Given the description of an element on the screen output the (x, y) to click on. 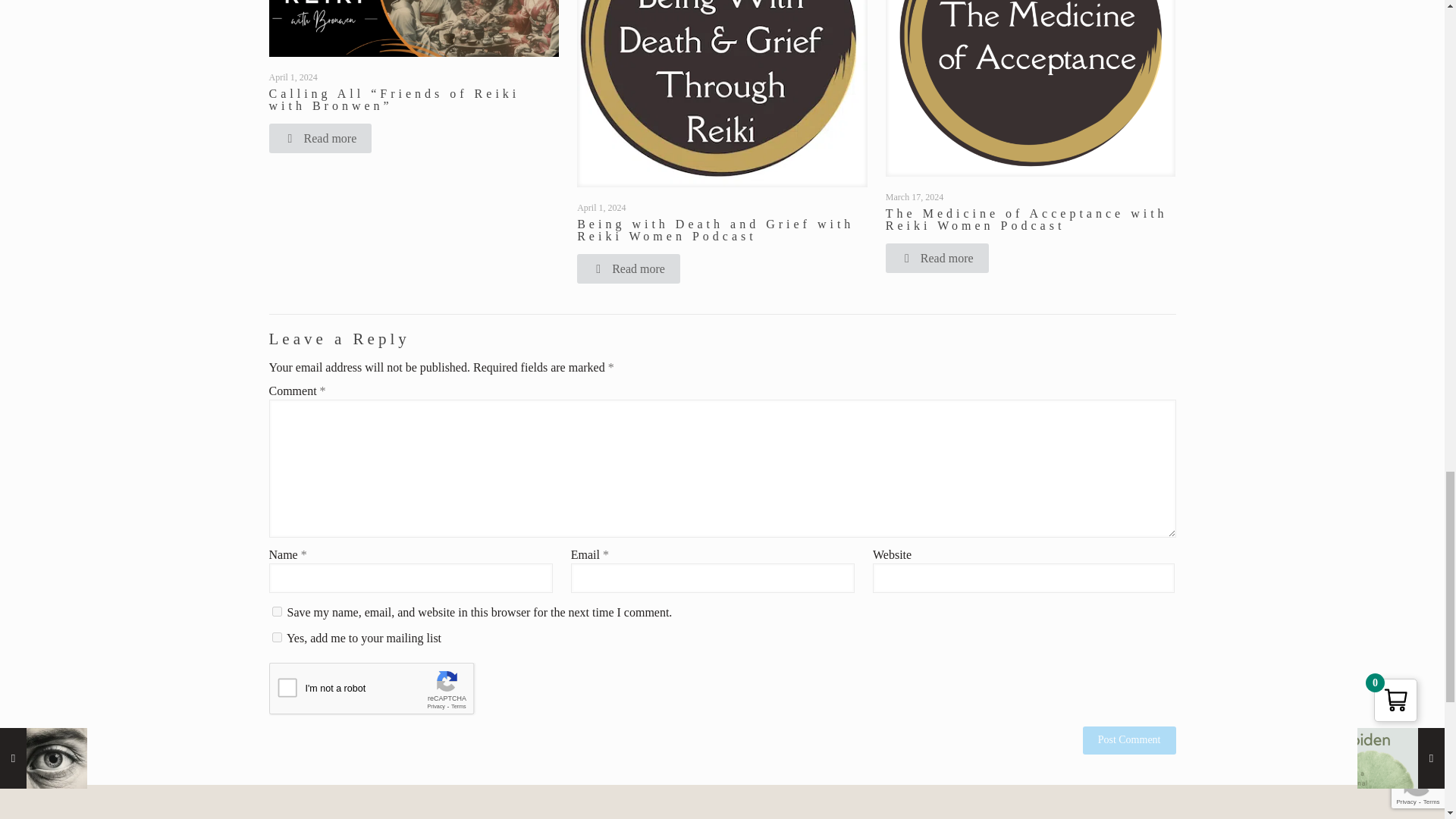
yes (275, 611)
1 (275, 637)
reCAPTCHA (383, 691)
Post Comment (1129, 740)
